Given the description of an element on the screen output the (x, y) to click on. 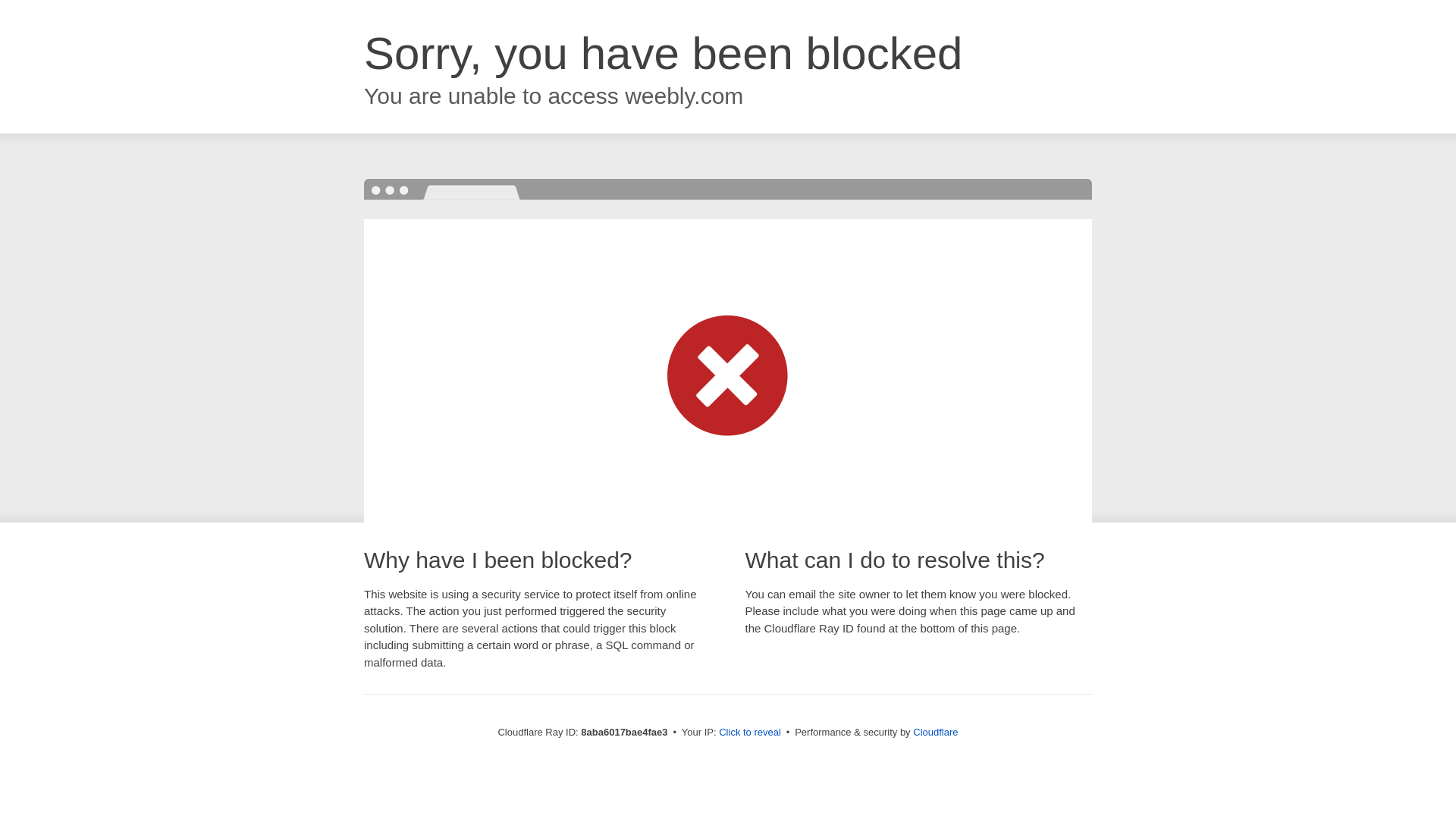
Cloudflare (935, 731)
Click to reveal (749, 732)
